Given the description of an element on the screen output the (x, y) to click on. 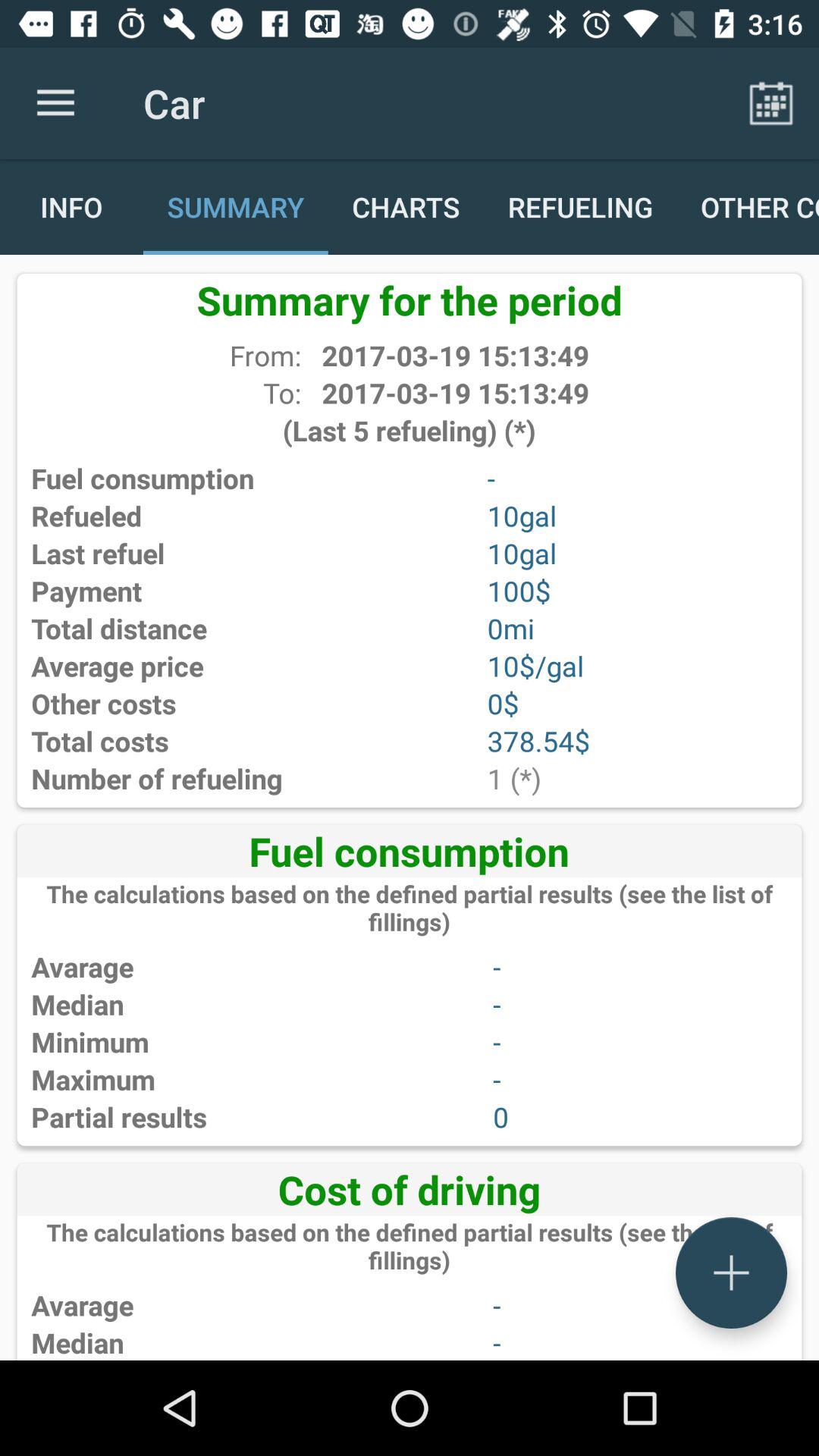
launch the item above the info icon (55, 103)
